Given the description of an element on the screen output the (x, y) to click on. 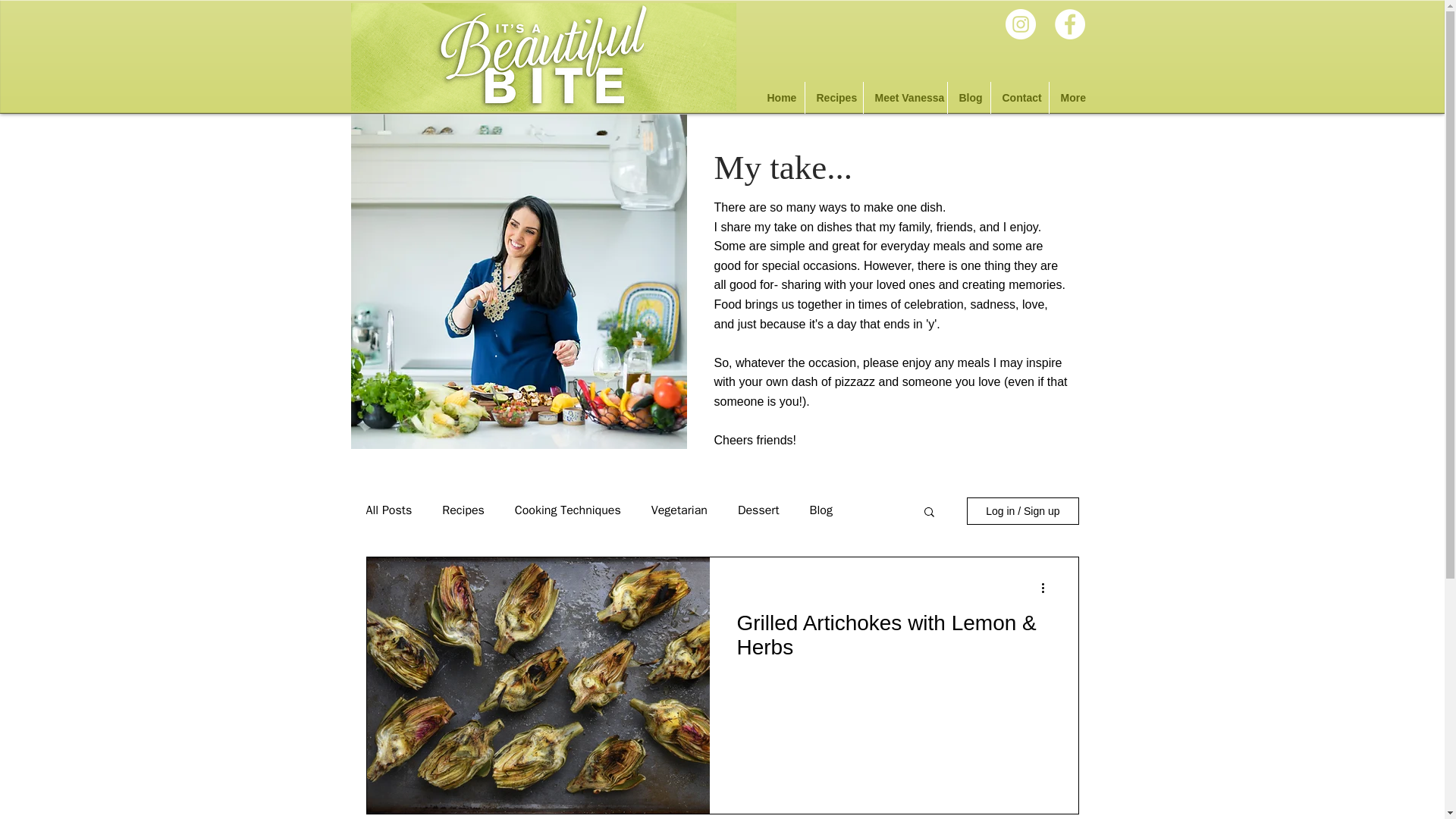
Meet Vanessa (904, 97)
Home (779, 97)
Contact (1019, 97)
Dessert (758, 510)
Cooking Techniques (568, 510)
All Posts (388, 510)
Vegetarian (678, 510)
Blog (968, 97)
Recipes (834, 97)
Recipes (463, 510)
Blog (820, 510)
